Given the description of an element on the screen output the (x, y) to click on. 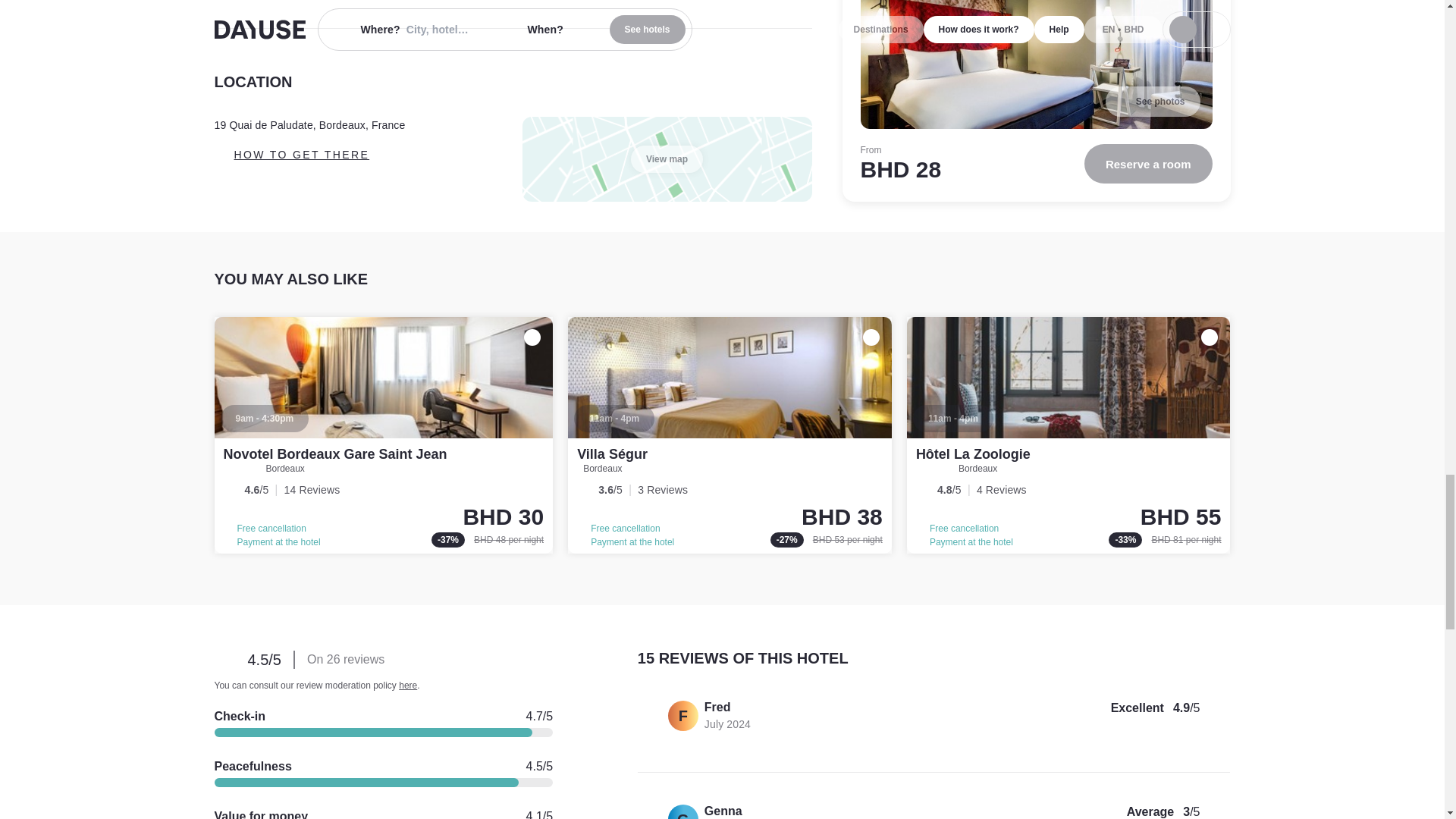
Novotel Bordeaux Gare Saint Jean (334, 453)
Novotel Bordeaux Gare Saint Jean (383, 434)
